Given the description of an element on the screen output the (x, y) to click on. 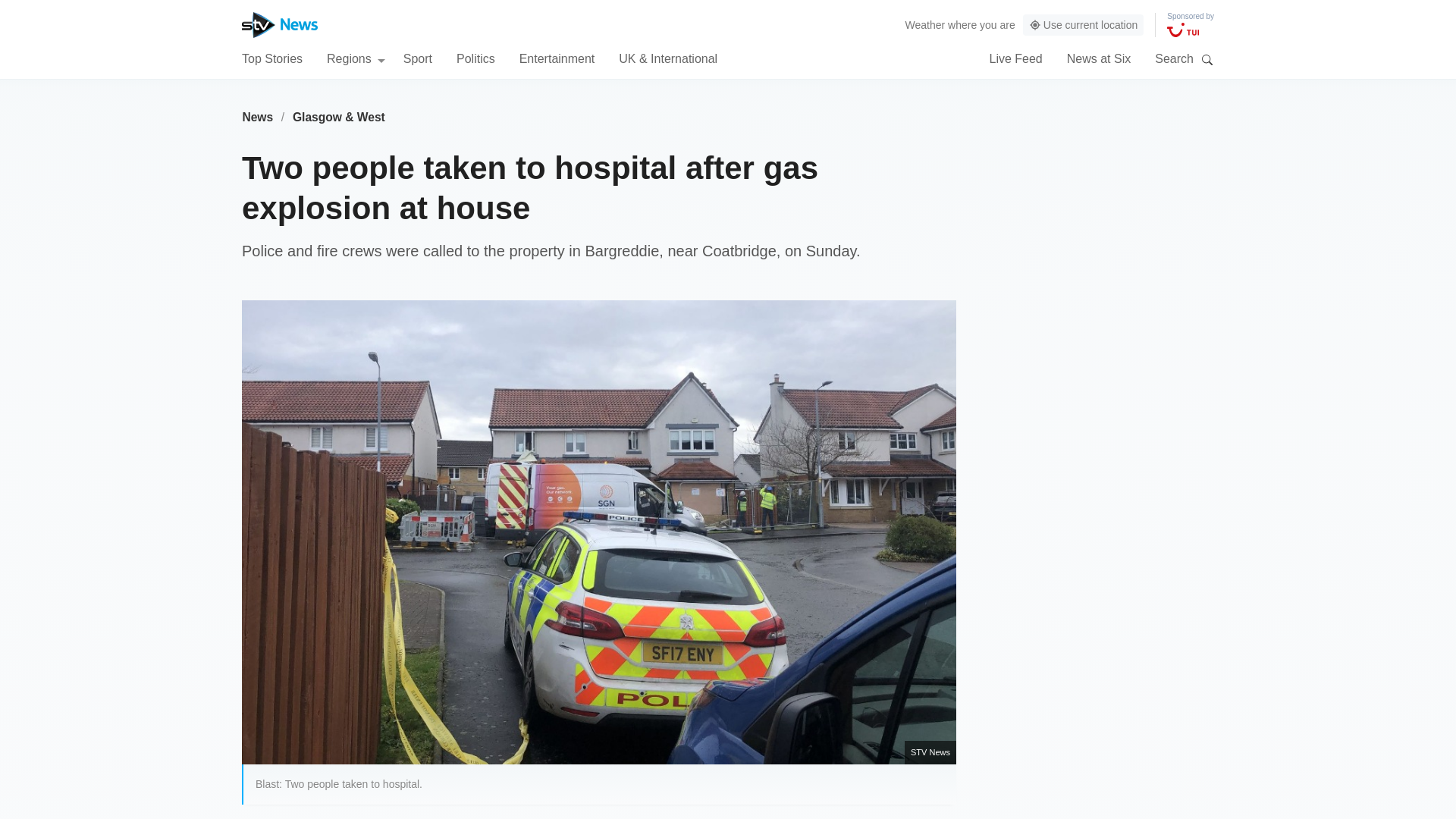
Weather (924, 24)
Search (1206, 59)
Politics (476, 57)
Regions (355, 57)
Use current location (1083, 25)
News (257, 116)
Top Stories (271, 57)
Entertainment (557, 57)
News at Six (1099, 57)
Live Feed (1015, 57)
